Given the description of an element on the screen output the (x, y) to click on. 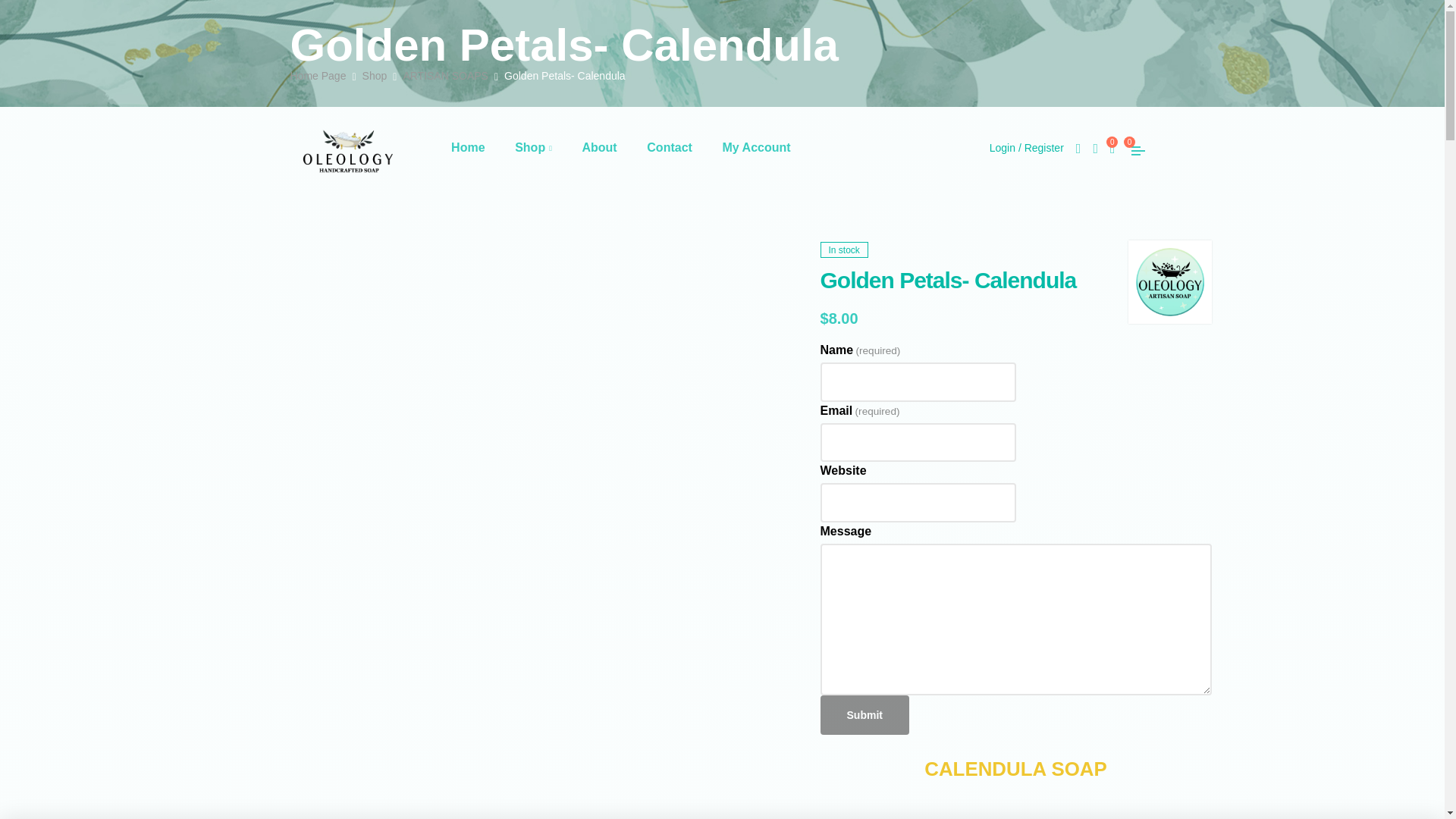
My Account (756, 147)
Shop (534, 147)
Shop (374, 75)
ARTISAN SOAPS (445, 75)
Home Page (317, 75)
Submit (864, 714)
Home (467, 147)
About (599, 147)
Contact (669, 147)
